Given the description of an element on the screen output the (x, y) to click on. 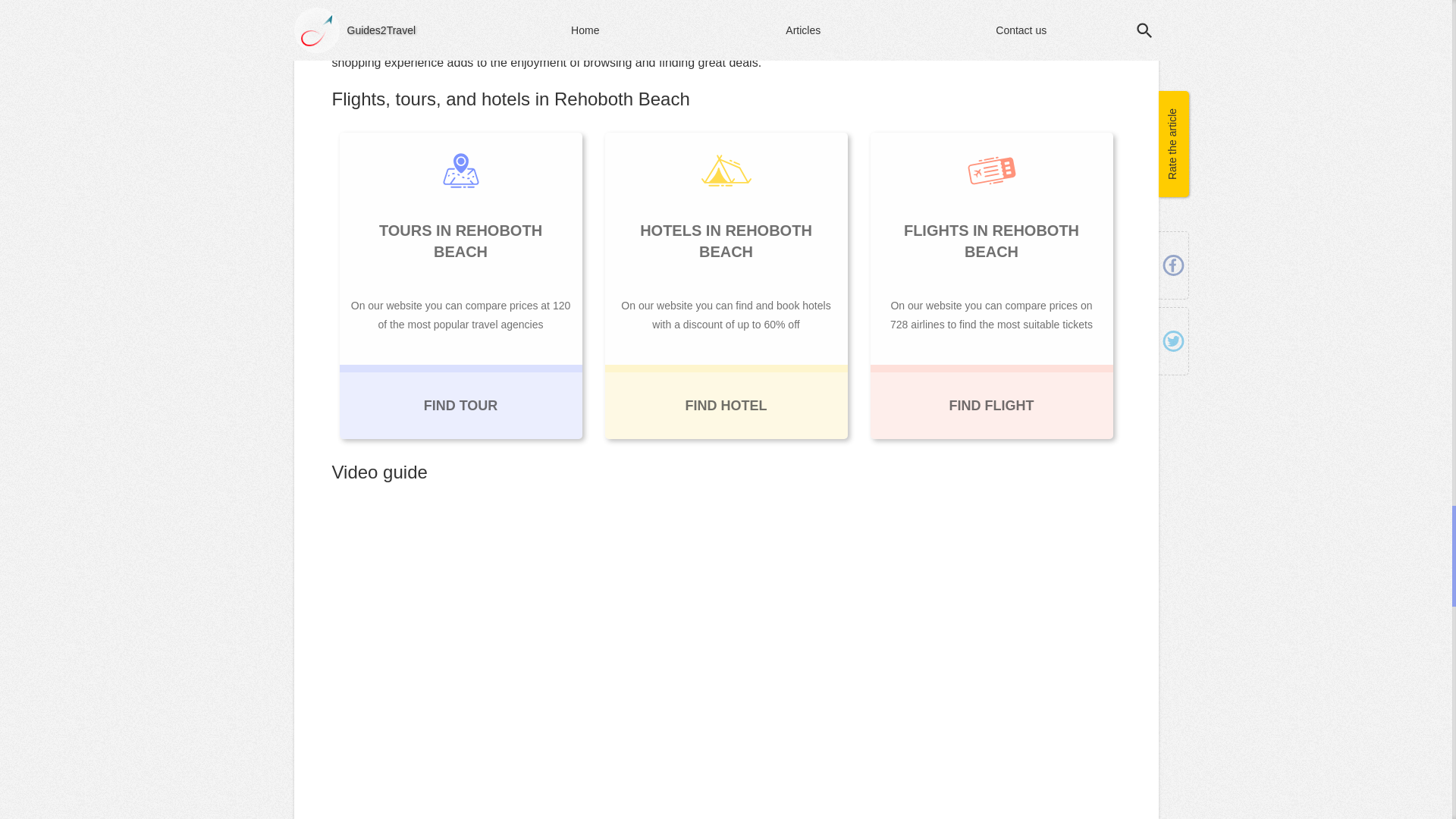
FIND HOTEL (726, 401)
FIND TOUR (460, 401)
FIND FLIGHT (991, 401)
